Given the description of an element on the screen output the (x, y) to click on. 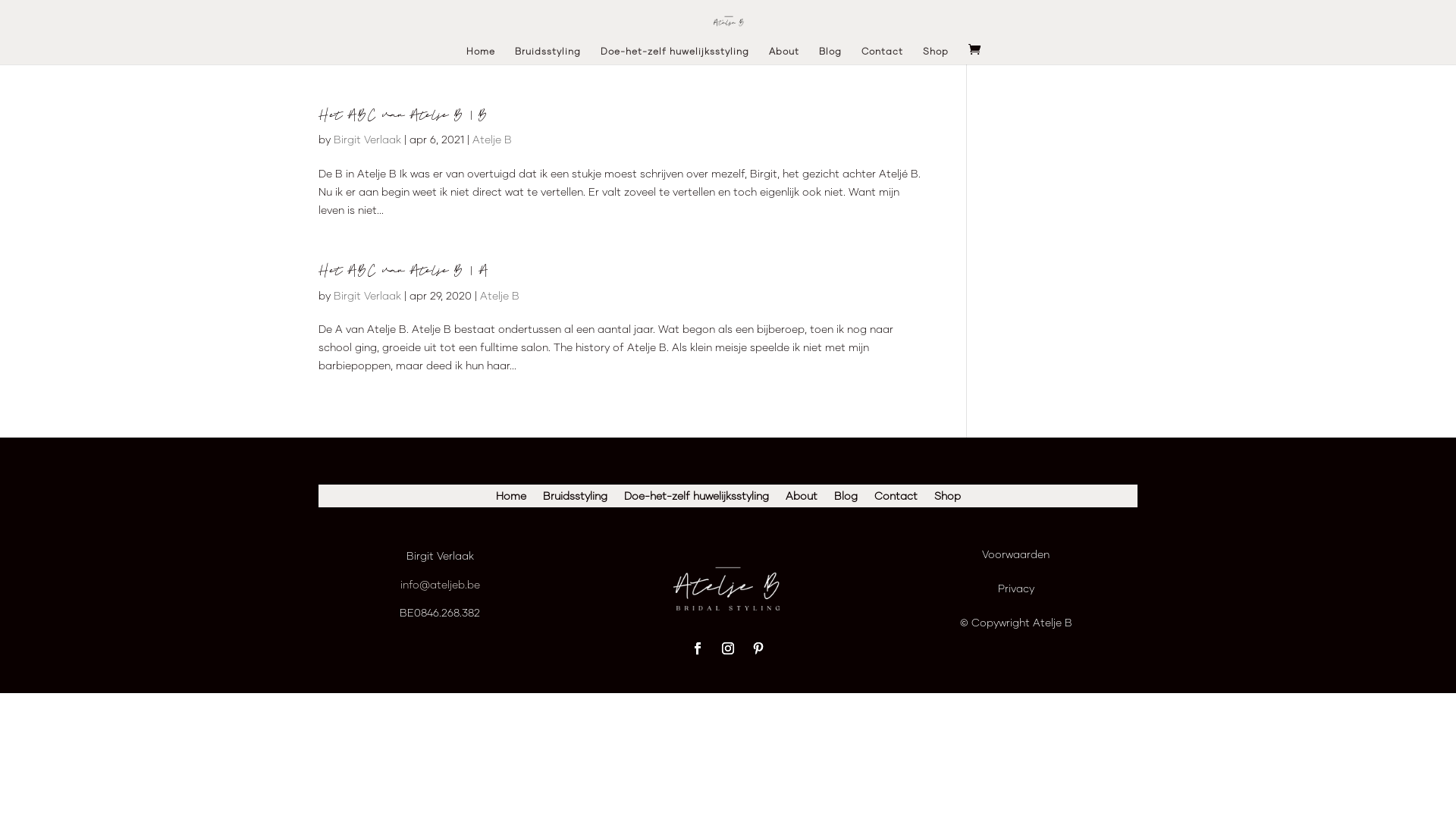
Follow on Pinterest Element type: hover (758, 648)
Shop Element type: text (947, 498)
Birgit Verlaak Element type: text (367, 138)
Follow on Facebook Element type: hover (697, 648)
About Element type: text (801, 498)
Bruidsstyling Element type: text (574, 498)
Follow on Instagram Element type: hover (727, 648)
Home Element type: text (480, 55)
Home Element type: text (510, 498)
Doe-het-zelf huwelijksstyling Element type: text (695, 498)
Contact Element type: text (894, 498)
Atelje B Element type: text (499, 294)
Bruidsstyling Element type: text (547, 55)
Shop Element type: text (935, 55)
Het ABC van Atelje B | B Element type: text (403, 114)
Atelje B Element type: text (491, 138)
info@ateljeb.be Element type: text (440, 583)
Birgit Verlaak Element type: text (367, 294)
Doe-het-zelf huwelijksstyling Element type: text (674, 55)
Blog Element type: text (830, 55)
About Element type: text (783, 55)
Blog Element type: text (845, 498)
Het ABC van Atelje B | A Element type: text (403, 270)
Contact Element type: text (882, 55)
